Given the description of an element on the screen output the (x, y) to click on. 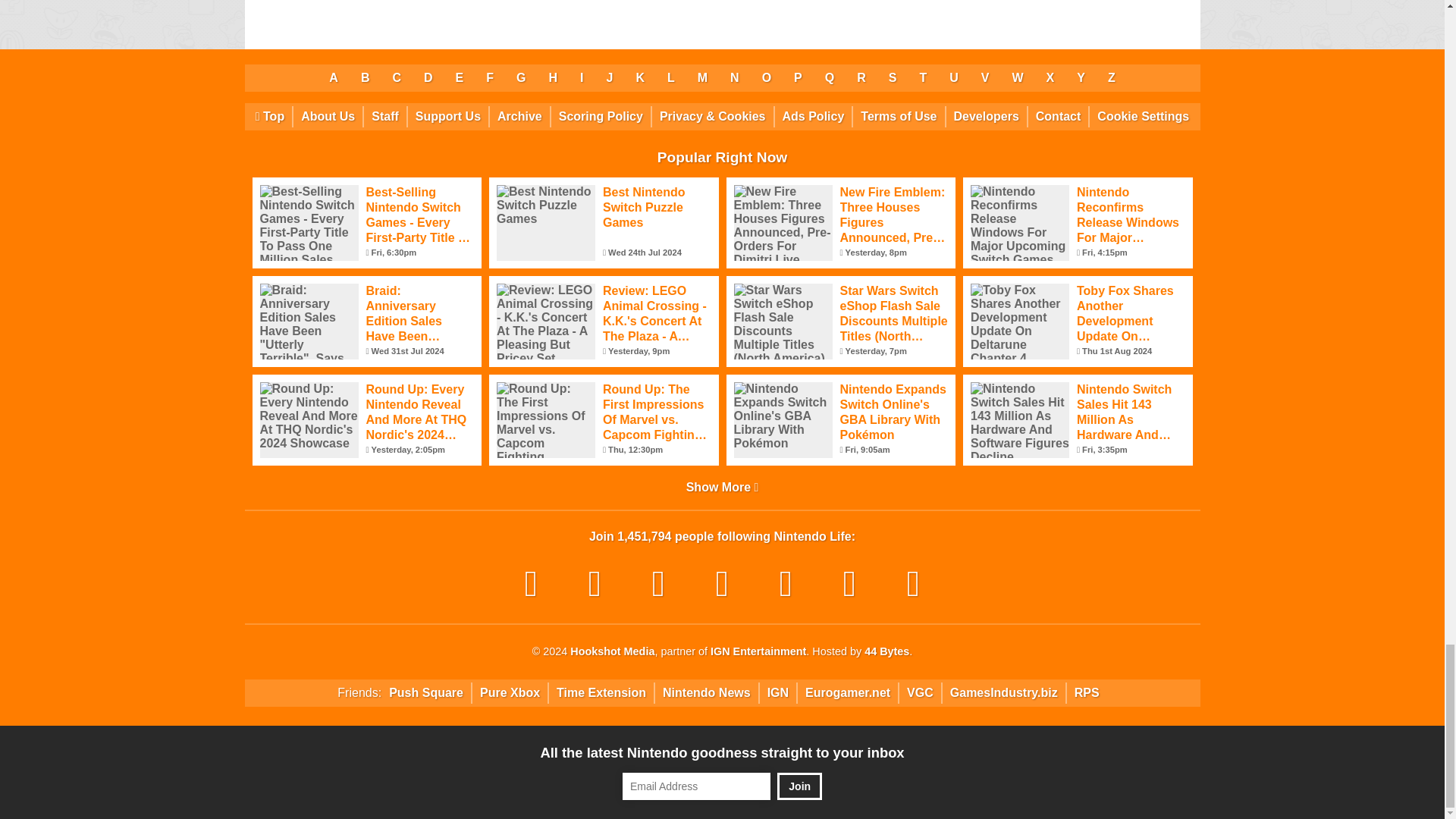
Join (799, 786)
